Given the description of an element on the screen output the (x, y) to click on. 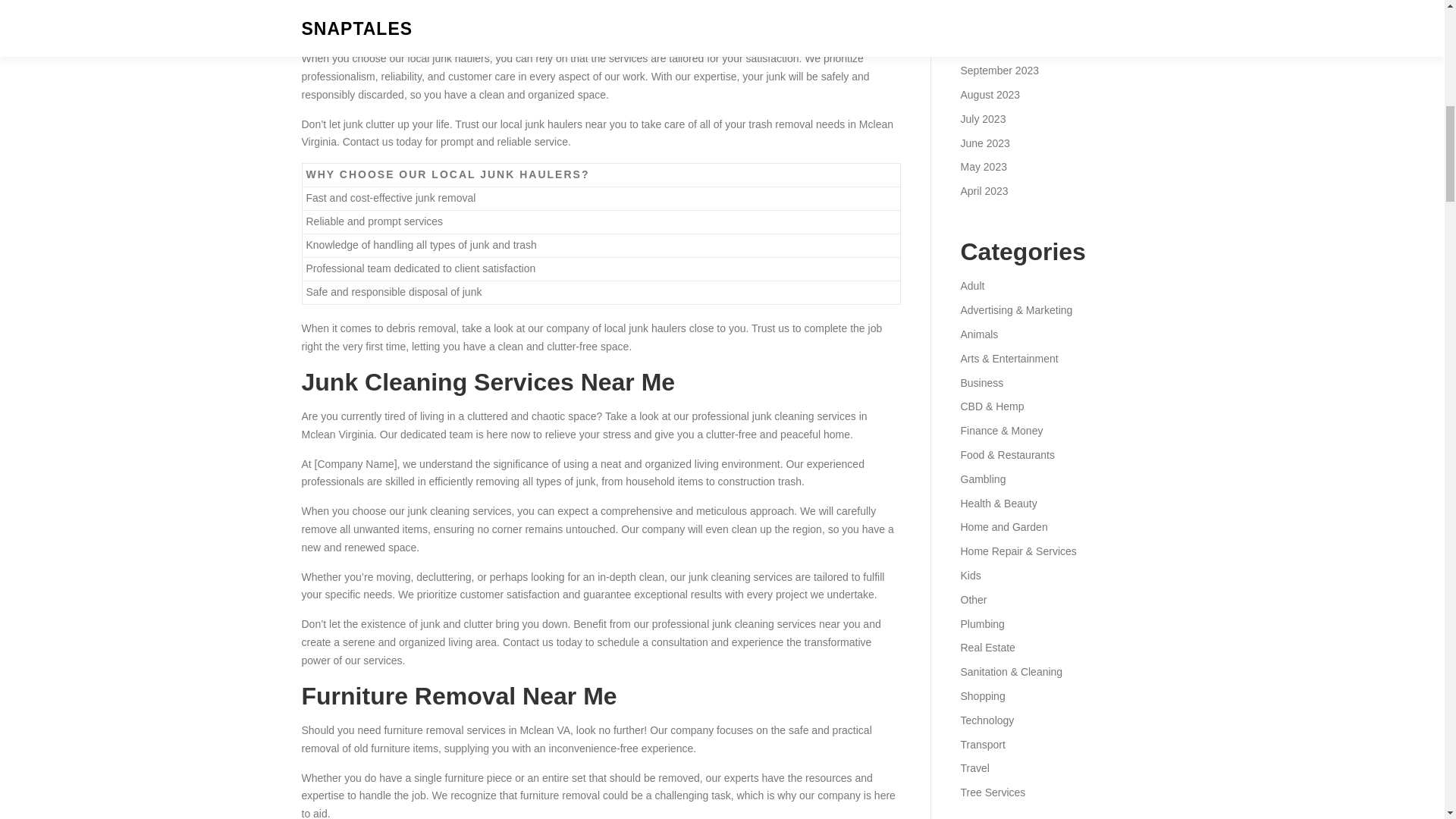
June 2023 (984, 143)
Business (981, 382)
Adult (971, 285)
Animals (978, 334)
November 2023 (997, 22)
August 2023 (989, 94)
September 2023 (999, 70)
October 2023 (992, 46)
April 2023 (983, 191)
July 2023 (982, 119)
